Given the description of an element on the screen output the (x, y) to click on. 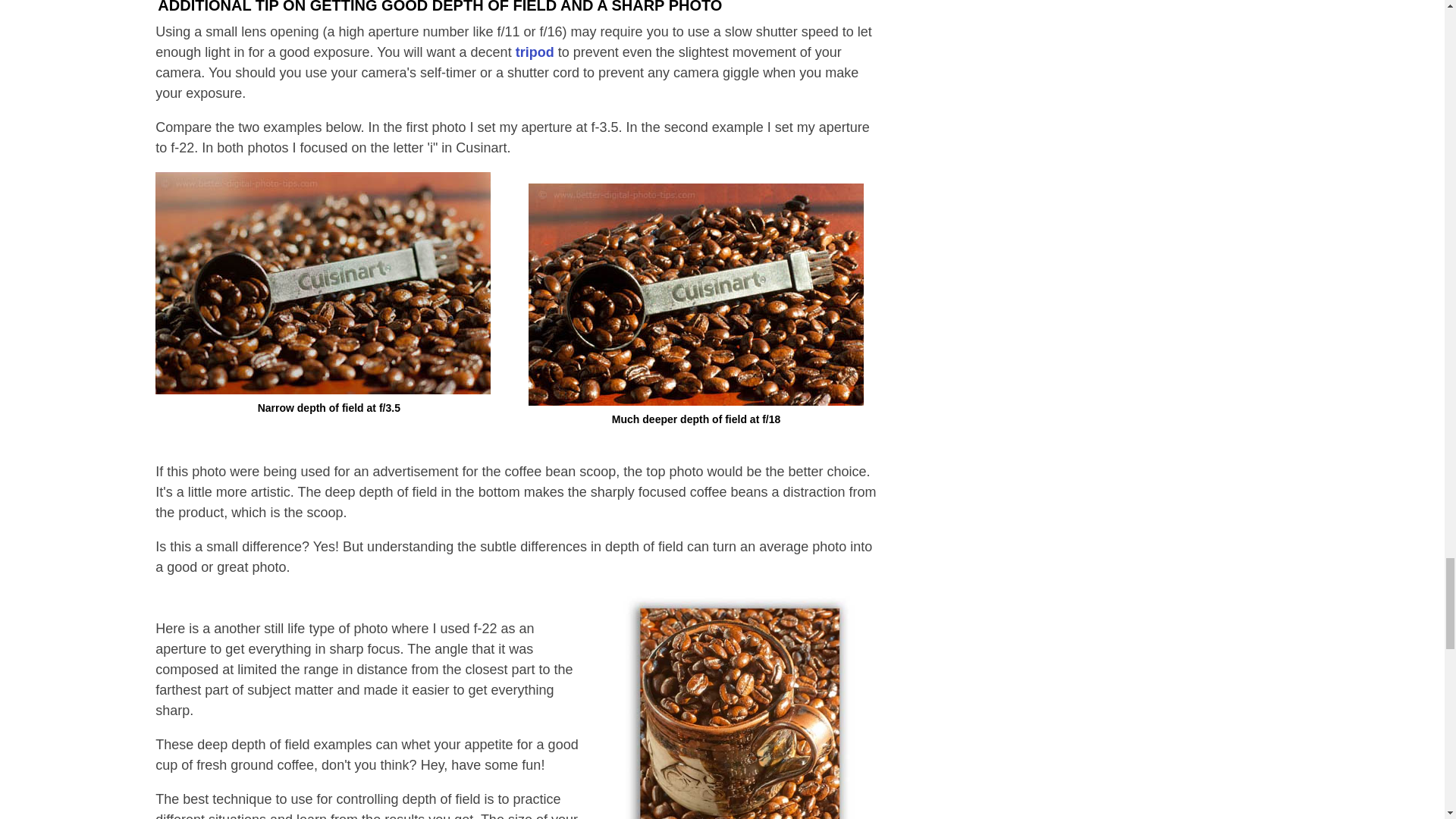
tripod (534, 52)
